Given the description of an element on the screen output the (x, y) to click on. 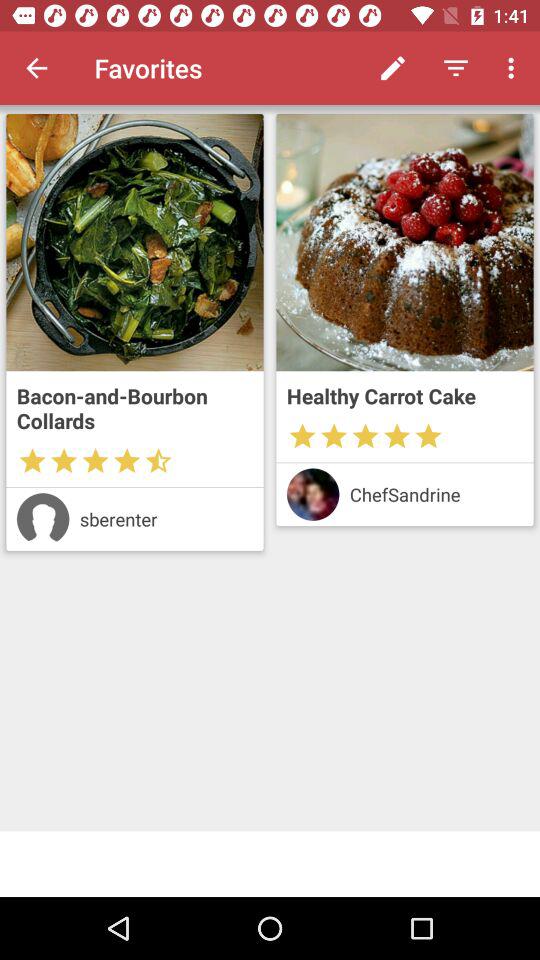
see larger photo (404, 242)
